Given the description of an element on the screen output the (x, y) to click on. 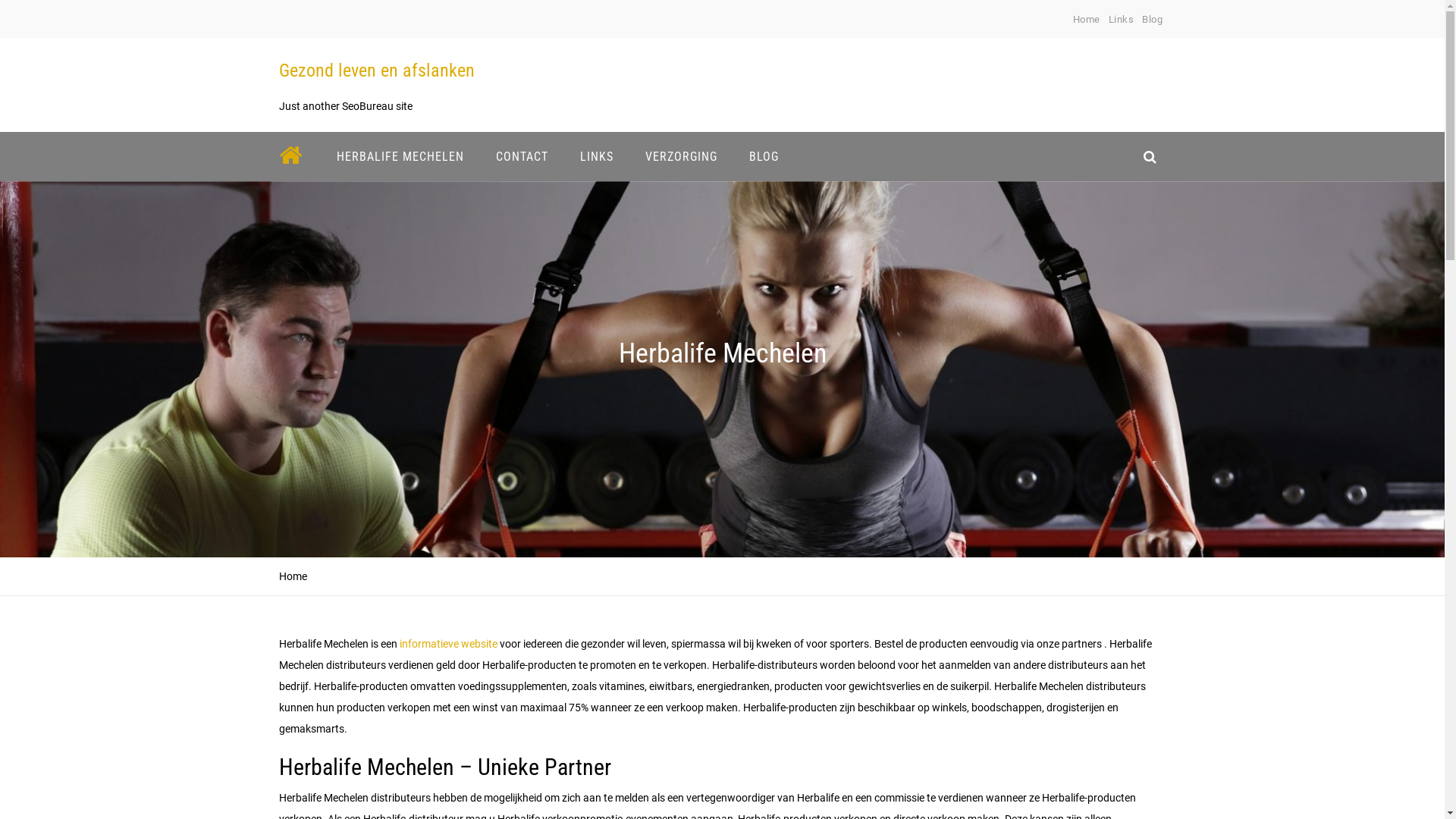
VERZORGING Element type: text (681, 156)
Links Element type: text (1121, 19)
informatieve website Element type: text (447, 643)
Blog Element type: text (1152, 19)
Home Element type: text (1086, 19)
search_icon Element type: hover (1148, 156)
Gezond leven en afslanken Element type: text (376, 70)
CONTACT Element type: text (521, 156)
HERBALIFE MECHELEN Element type: text (399, 156)
LINKS Element type: text (596, 156)
BLOG Element type: text (762, 156)
